Given the description of an element on the screen output the (x, y) to click on. 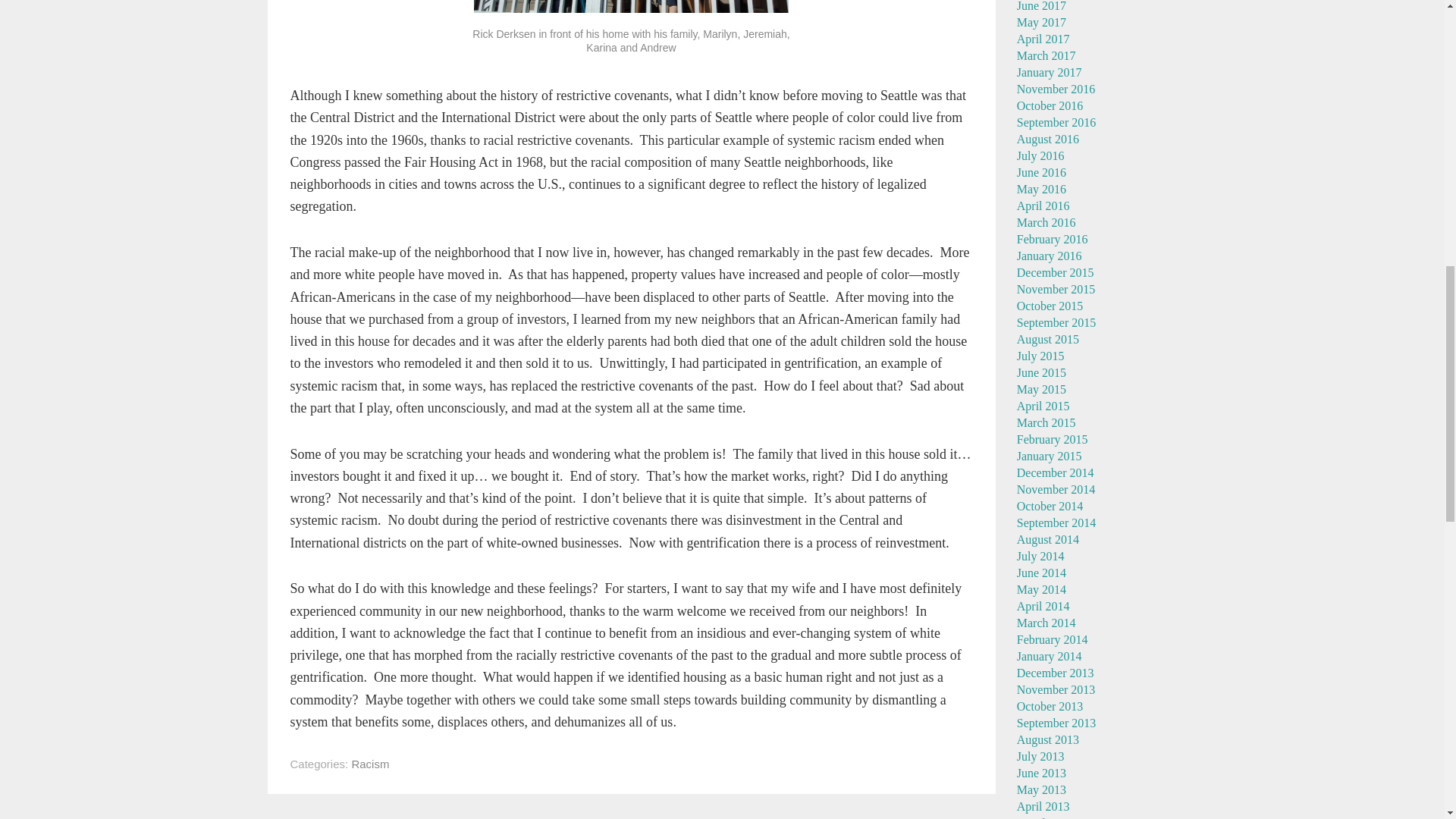
Racism (369, 763)
